Given the description of an element on the screen output the (x, y) to click on. 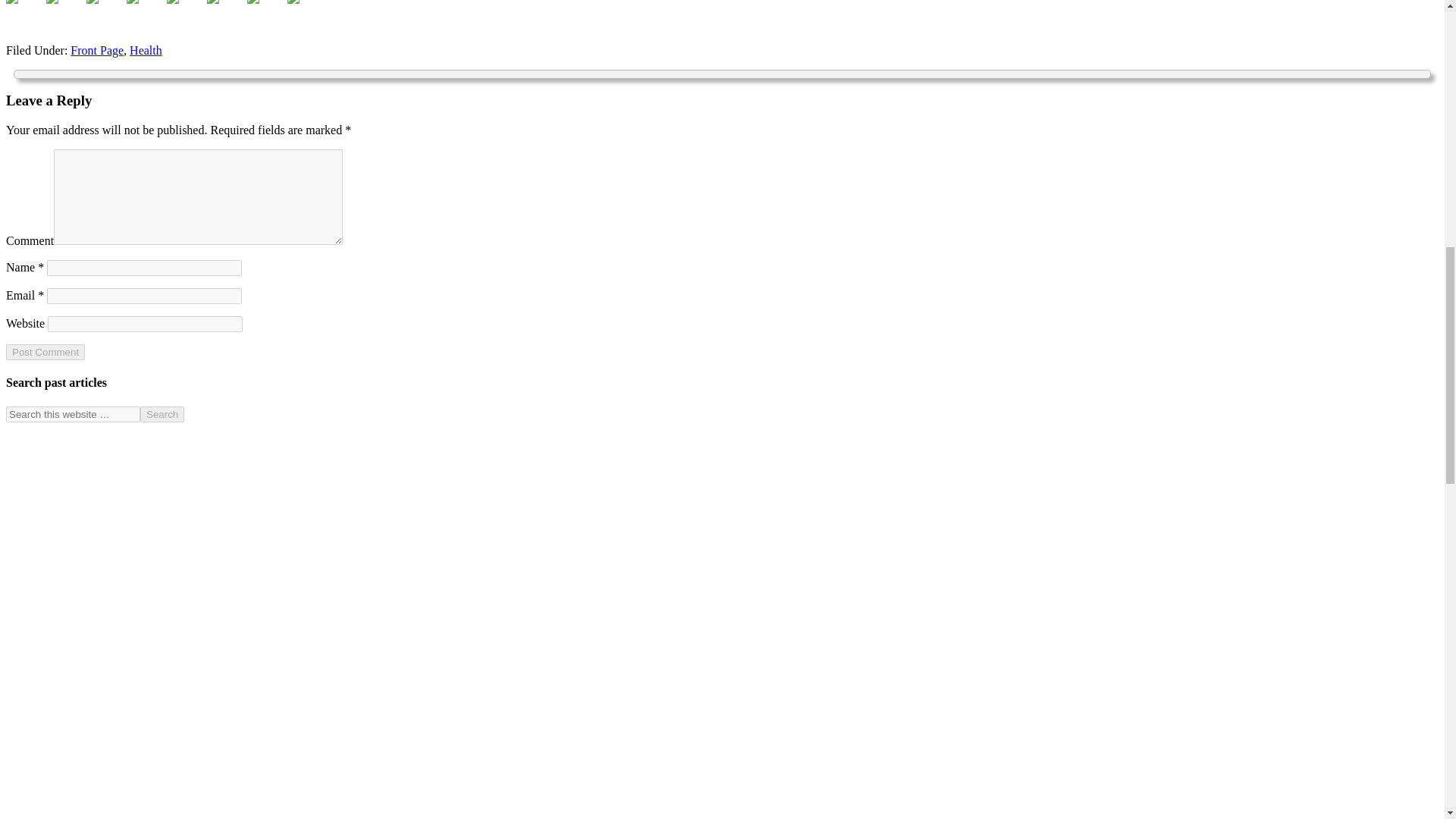
Share on Facebook (11, 2)
Health (145, 50)
Share on tumblr (265, 13)
Share on Reddit (132, 2)
Share on Twitter (64, 13)
Pin it with Pinterest (173, 2)
Search (161, 414)
Share on Linkedin (212, 2)
Share on Linkedin (224, 13)
Search (161, 414)
